Given the description of an element on the screen output the (x, y) to click on. 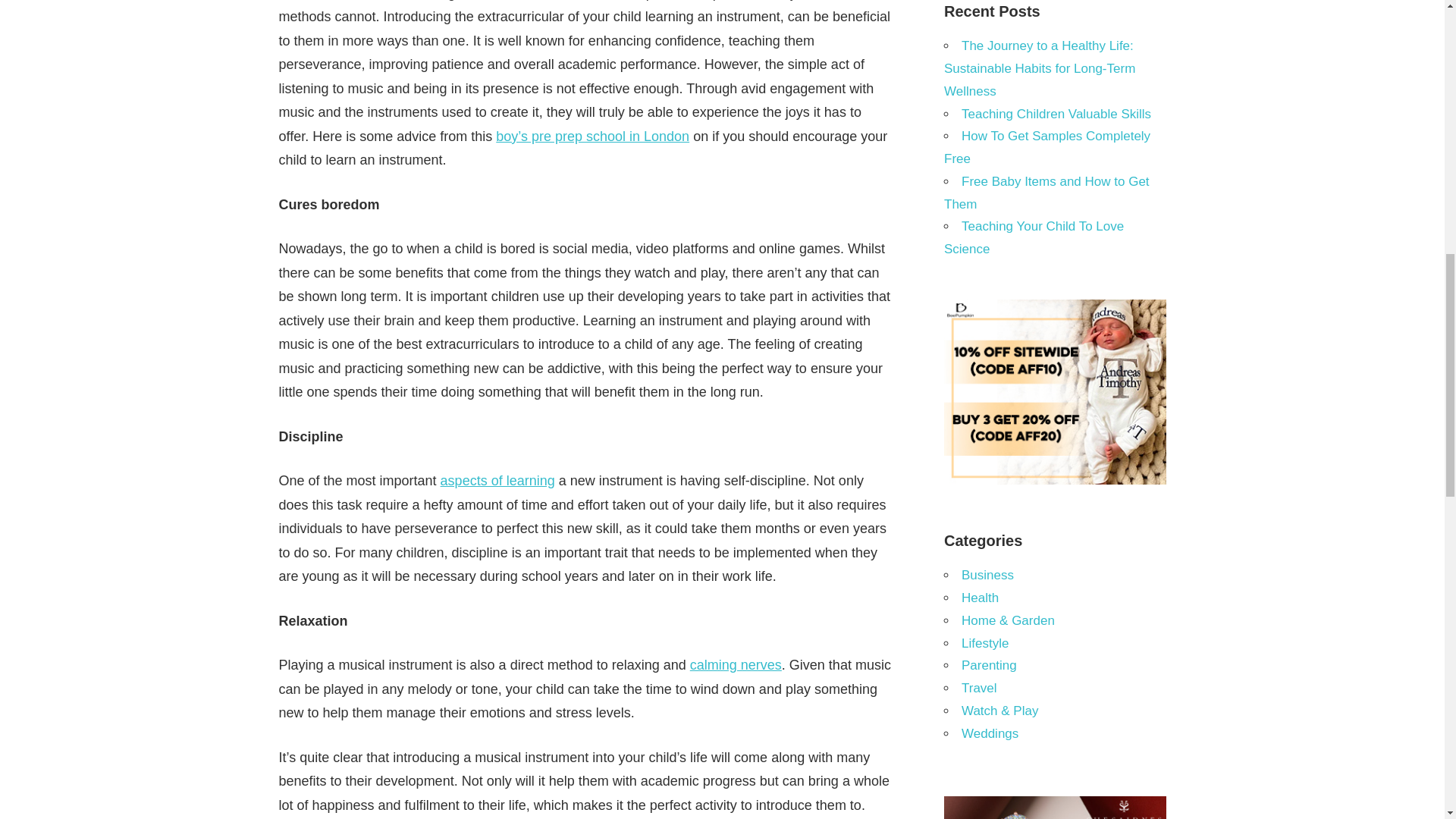
Free Baby Items and How to Get Them (1046, 192)
aspects of learning (497, 480)
Teaching Your Child To Love Science (1033, 237)
Beepumpkin Sale 2023 (1054, 480)
Teaching Children Valuable Skills (1055, 114)
calming nerves (735, 664)
How To Get Samples Completely Free (1046, 147)
